Given the description of an element on the screen output the (x, y) to click on. 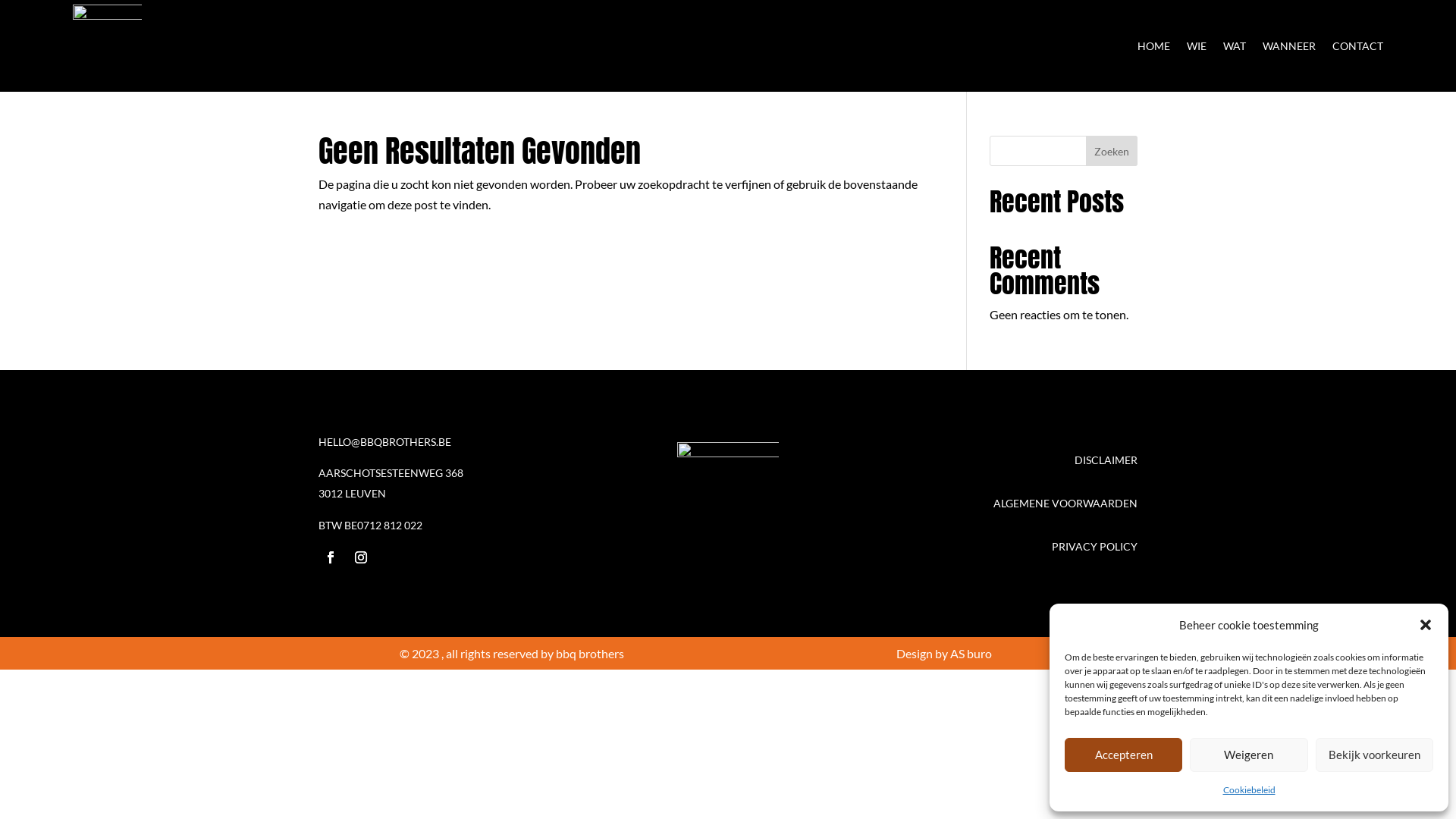
HELLO@BBQBROTHERS.BE Element type: text (384, 441)
Cookiebeleid Element type: text (1248, 789)
Accepteren Element type: text (1123, 754)
Volg op Facebook Element type: hover (330, 557)
WANNEER Element type: text (1288, 45)
HOME Element type: text (1153, 45)
Zoeken Element type: text (1111, 150)
WIE Element type: text (1196, 45)
WAT Element type: text (1234, 45)
Vlammenlogo_Glad_oranje_keuze1 Element type: hover (728, 503)
CONTACT Element type: text (1357, 45)
Weigeren Element type: text (1248, 754)
Bekijk voorkeuren Element type: text (1374, 754)
Volg op Instagram Element type: hover (360, 557)
